Given the description of an element on the screen output the (x, y) to click on. 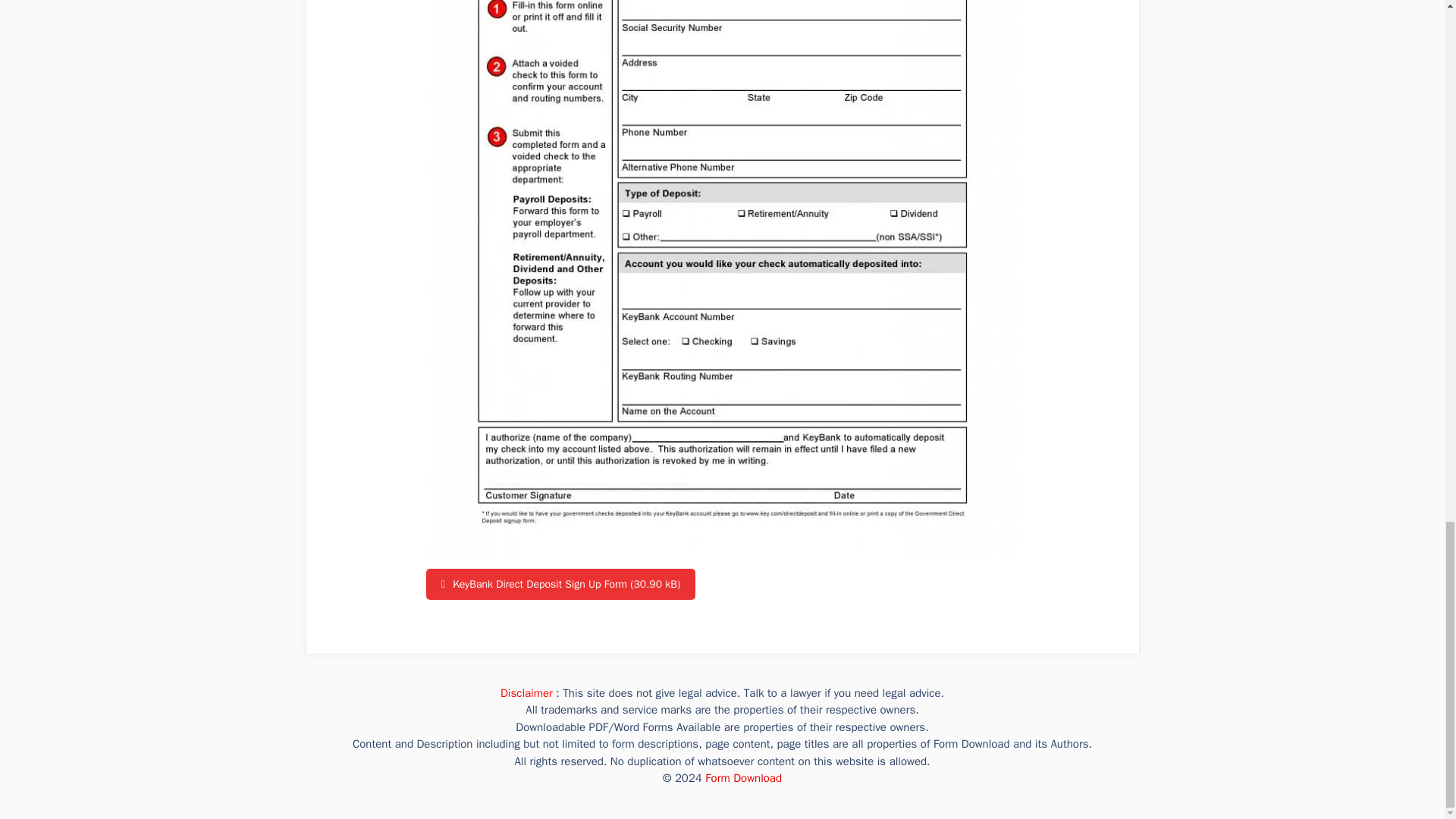
KeyBank Direct Deposit Sign Up Form (560, 583)
Scroll back to top (1406, 76)
Form Download (742, 777)
